Given the description of an element on the screen output the (x, y) to click on. 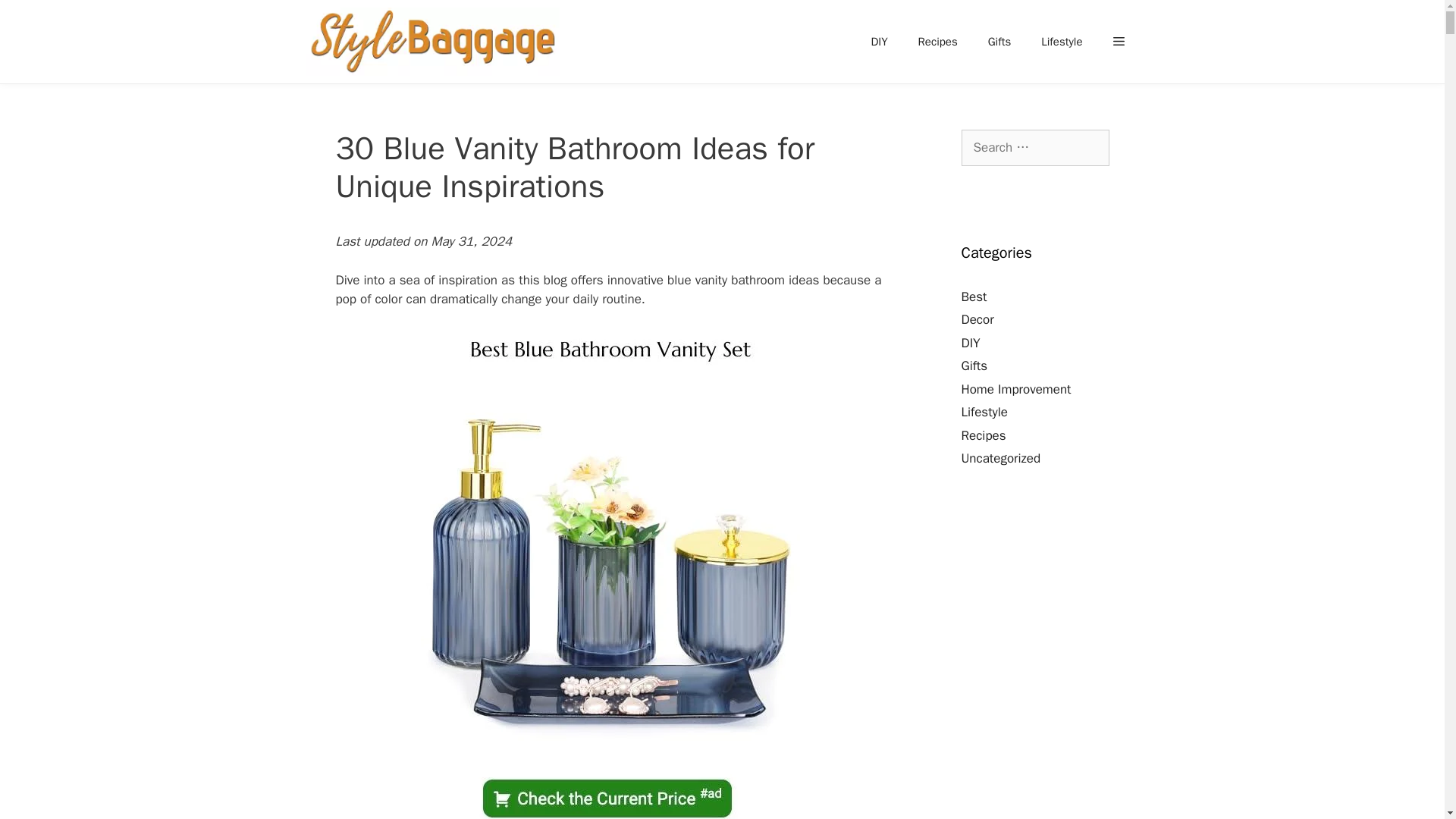
Gifts (999, 41)
Recipes (937, 41)
Style Baggage (431, 41)
DIY (879, 41)
Style Baggage (435, 41)
Lifestyle (1061, 41)
Search for: (1034, 147)
